Given the description of an element on the screen output the (x, y) to click on. 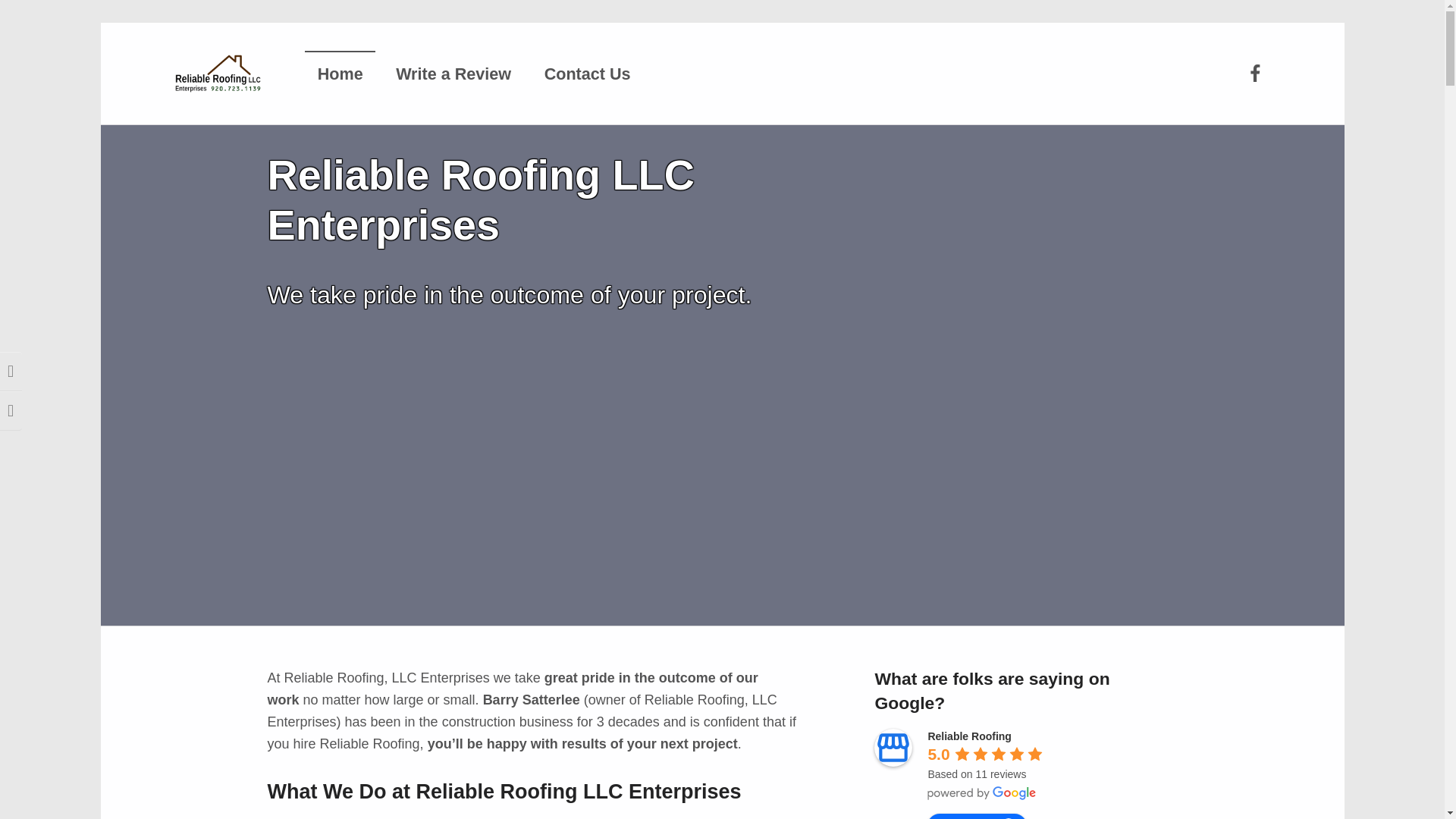
Reliable Roofing (968, 736)
Write a Review (453, 72)
Home (339, 72)
review us on (976, 816)
Contact Us (586, 72)
